Given the description of an element on the screen output the (x, y) to click on. 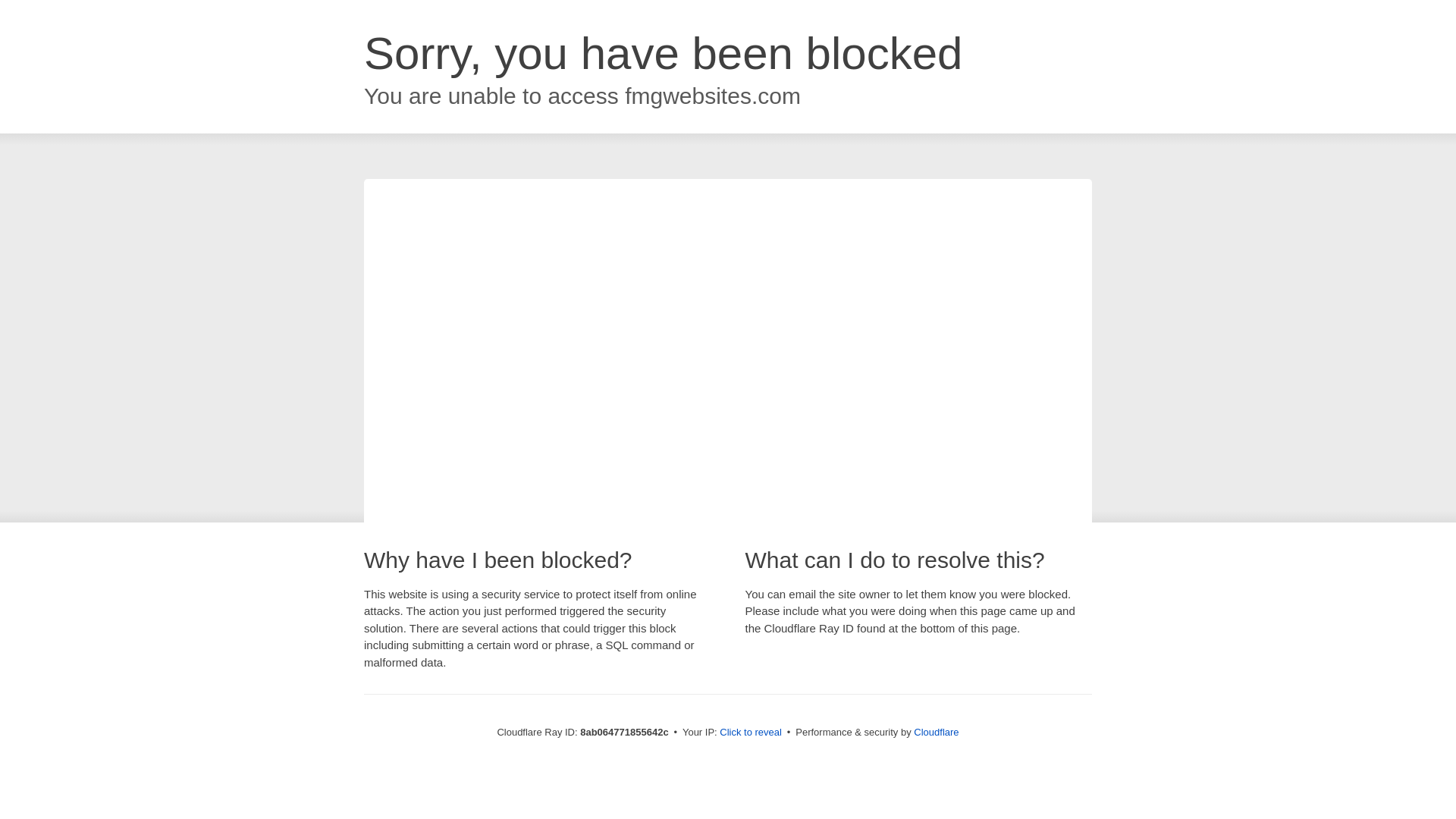
Cloudflare (936, 731)
Click to reveal (750, 732)
